Given the description of an element on the screen output the (x, y) to click on. 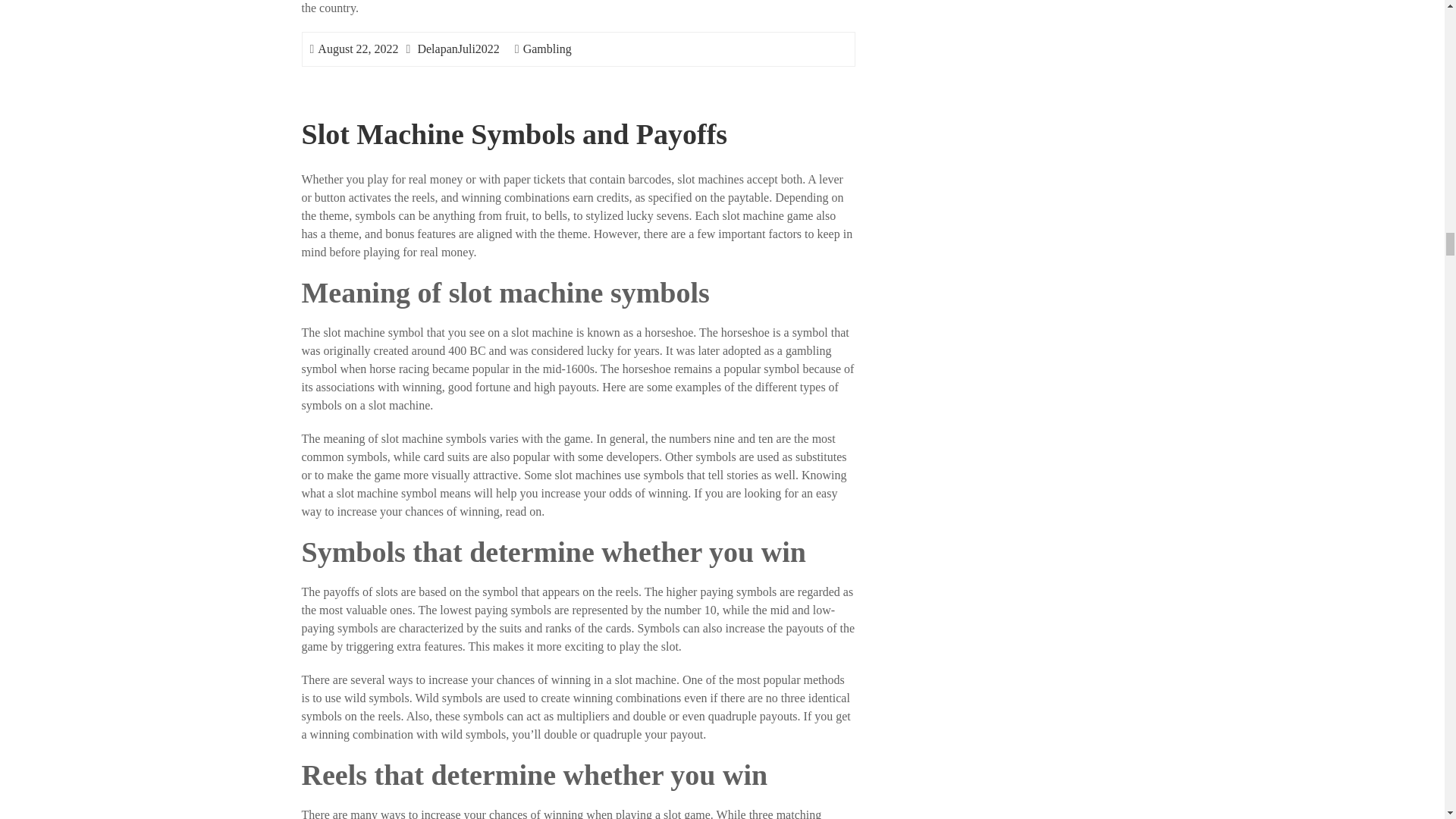
Gambling (547, 48)
Slot Machine Symbols and Payoffs (514, 133)
August 22, 2022 (357, 48)
DelapanJuli2022 (457, 48)
